Given the description of an element on the screen output the (x, y) to click on. 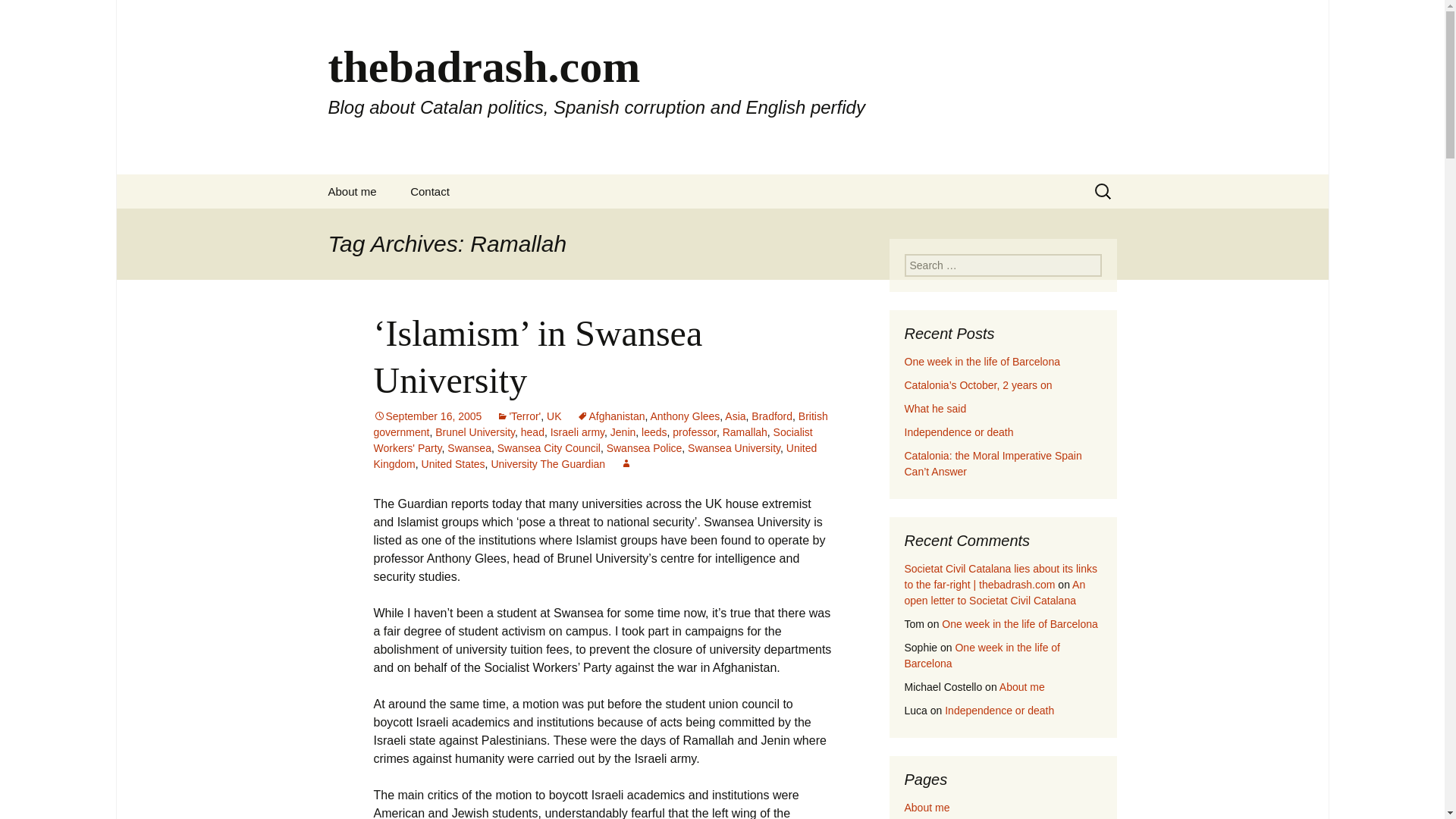
Swansea Police (644, 448)
Jenin (622, 431)
Search (18, 15)
View all posts by  (625, 463)
What he said (935, 408)
Swansea University (733, 448)
United States (453, 463)
One week in the life of Barcelona (981, 361)
University The Guardian (547, 463)
Swansea (469, 448)
